Given the description of an element on the screen output the (x, y) to click on. 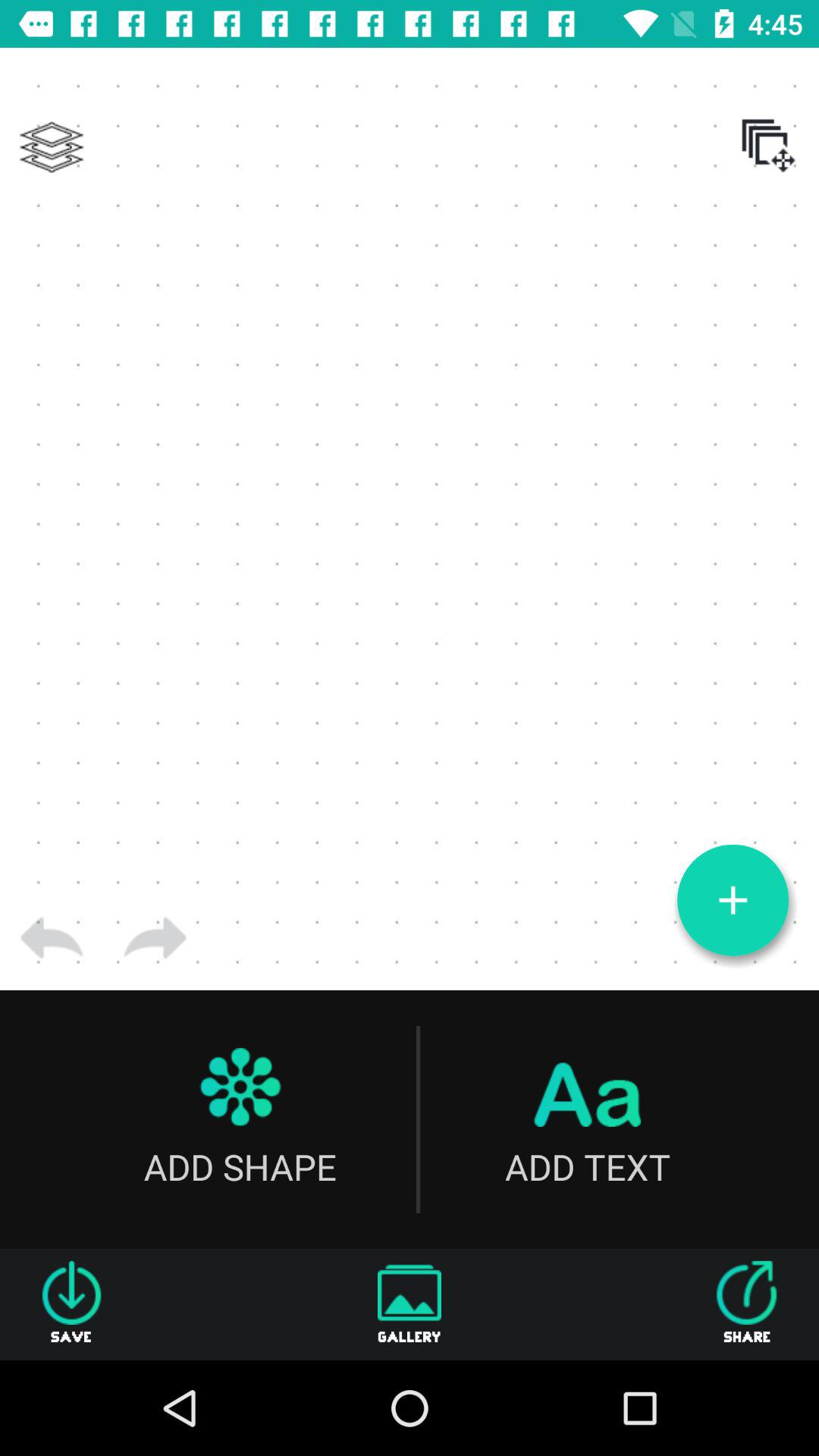
open the share item (747, 1304)
